Given the description of an element on the screen output the (x, y) to click on. 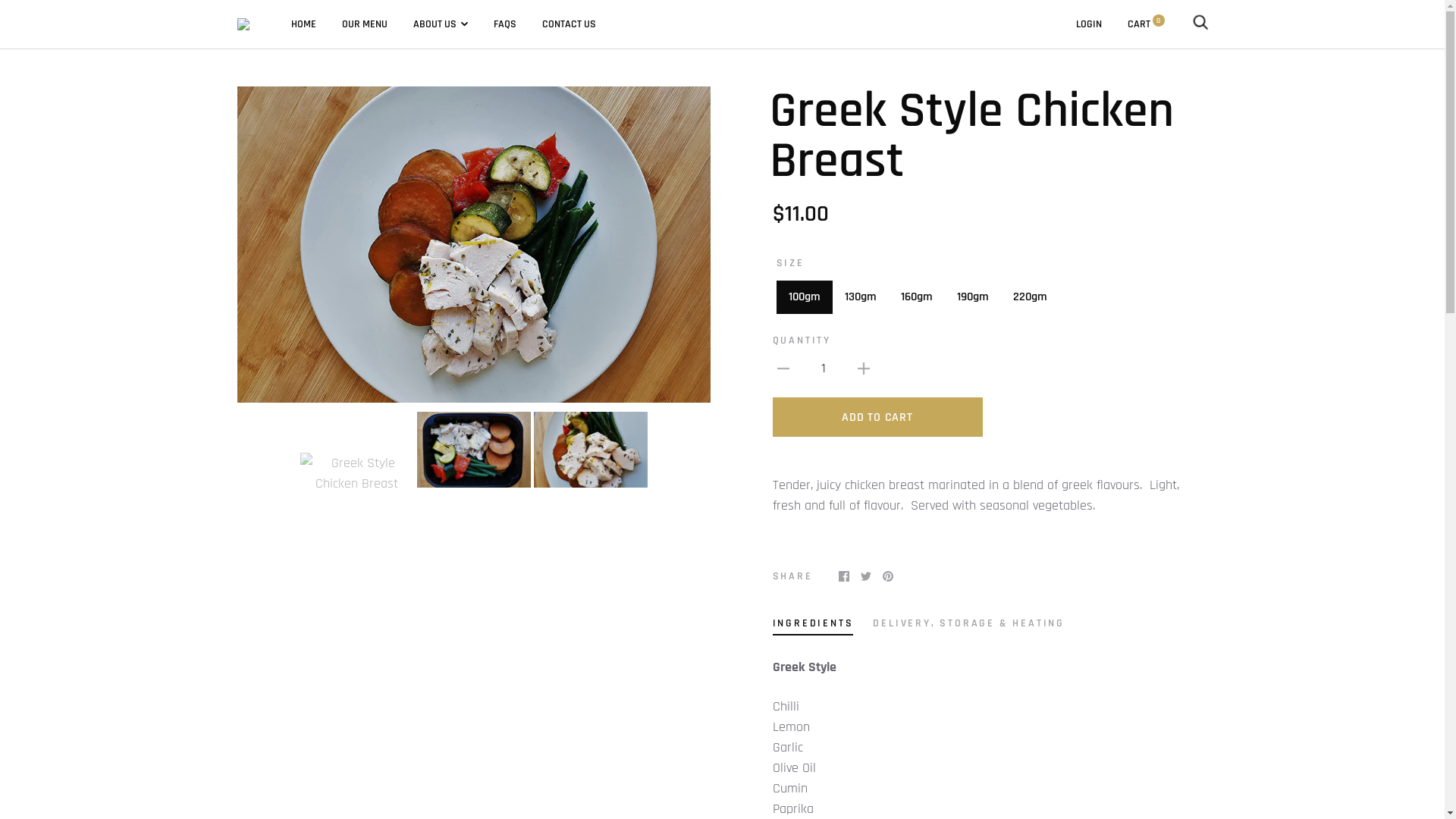
CART 0 Element type: text (1145, 24)
CONTACT US Element type: text (568, 23)
FAQS Element type: text (503, 23)
ADD TO CART Element type: text (876, 416)
ABOUT US Element type: text (439, 23)
LOGIN Element type: text (1088, 24)
OUR MENU Element type: text (363, 23)
HOME Element type: text (303, 23)
Increase quantity by 1 Element type: hover (862, 367)
Decrease quantity by 1 Element type: hover (782, 367)
